Given the description of an element on the screen output the (x, y) to click on. 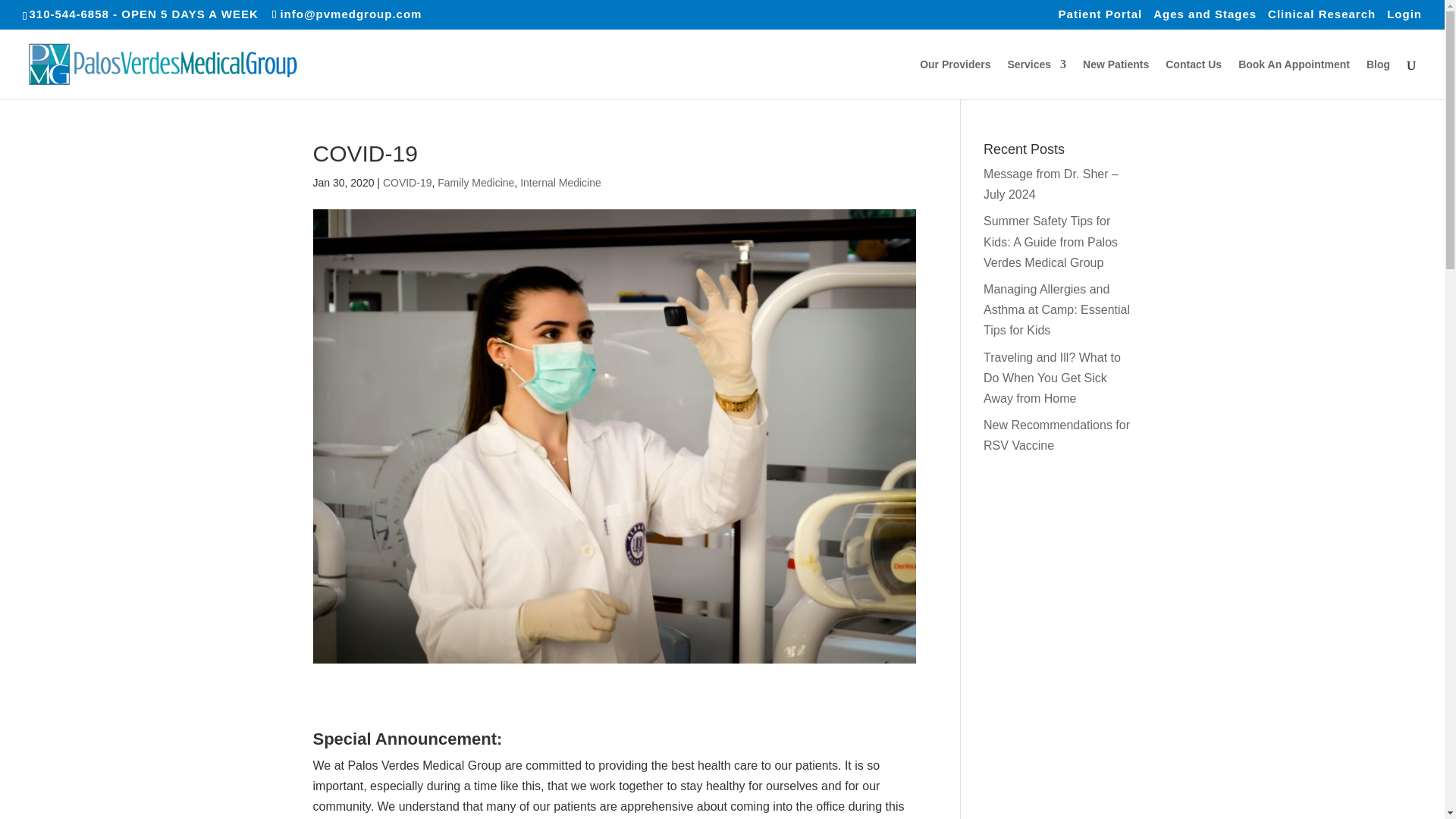
310-544-6858 - OPEN 5 DAYS A WEEK (143, 13)
Clinical Research (1321, 17)
New Patients (1115, 78)
Internal Medicine (560, 182)
Book An Appointment (1294, 78)
Services (1036, 78)
Our Providers (955, 78)
Login (1404, 17)
Contact Us (1193, 78)
COVID-19 (407, 182)
